Given the description of an element on the screen output the (x, y) to click on. 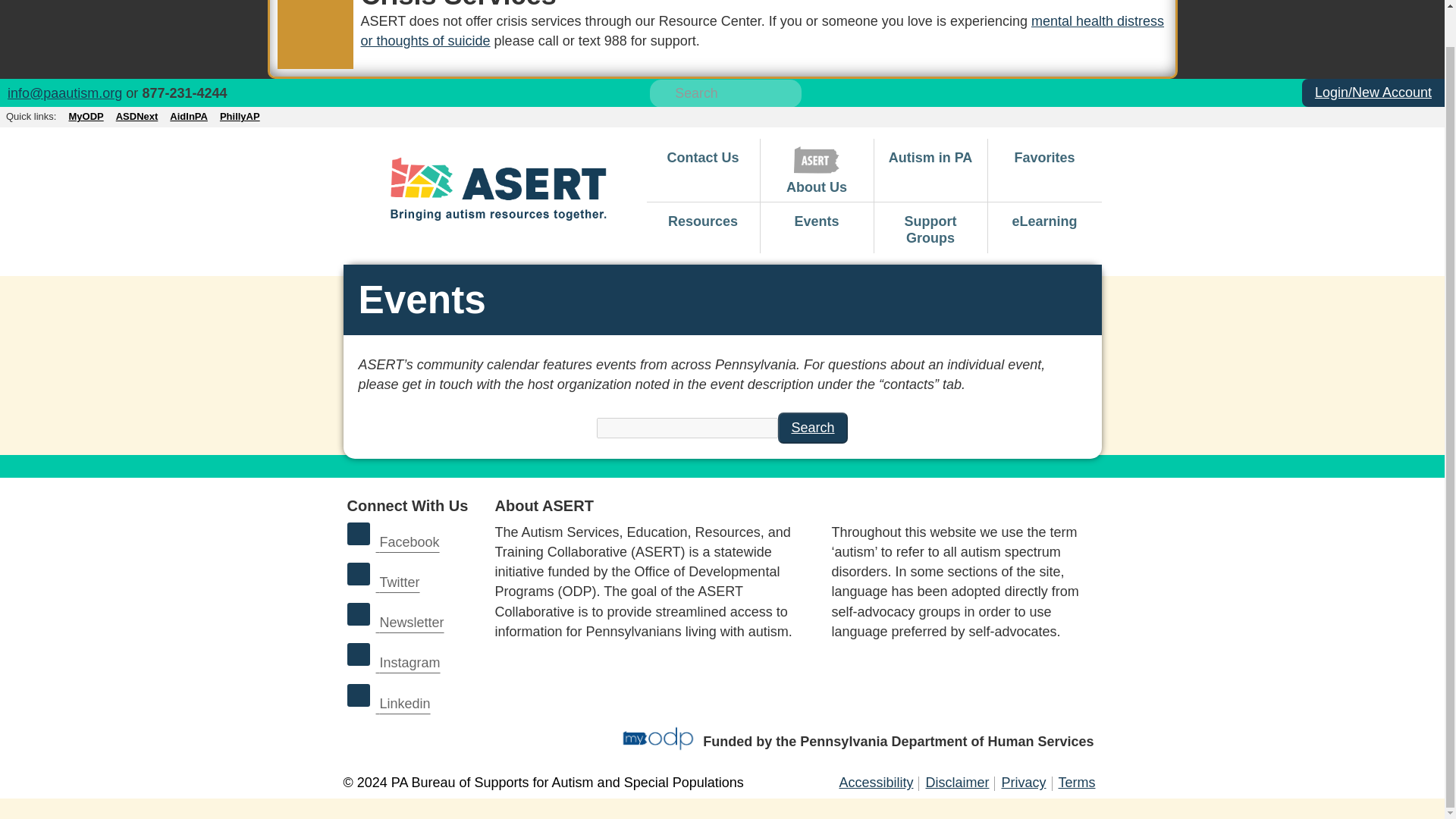
MyODP (85, 117)
About Us (816, 169)
Search (812, 427)
PhillyAP (240, 117)
eLearning (1043, 219)
Contact Us (702, 155)
Privacy (1022, 782)
Resources (702, 219)
Disclaimer (956, 782)
Events (816, 219)
